Given the description of an element on the screen output the (x, y) to click on. 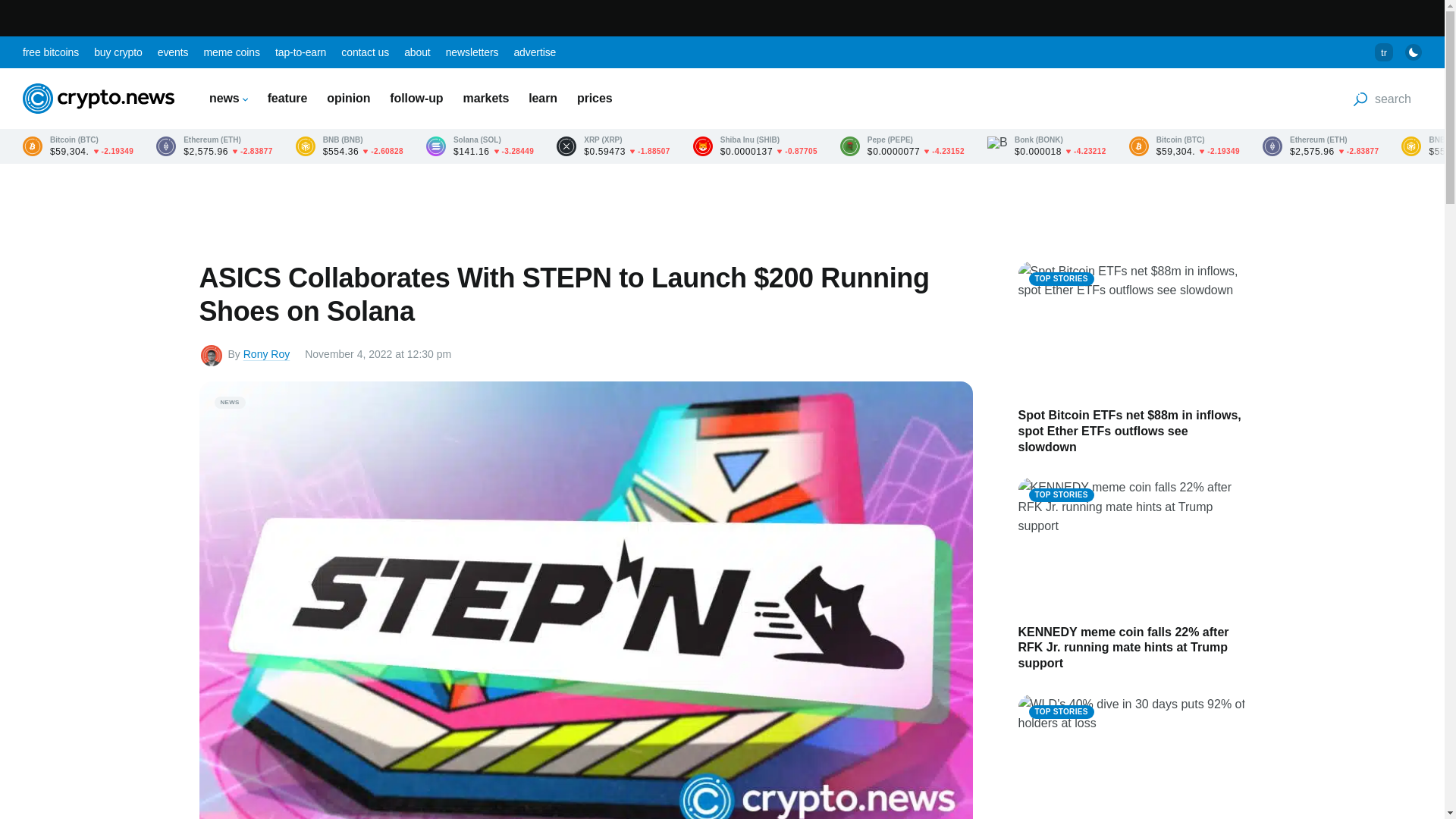
free bitcoins (50, 51)
feature (287, 97)
advertise (534, 51)
opinion (347, 97)
learn (542, 97)
Ethereum price (213, 145)
Bitcoin price (78, 145)
news (228, 97)
markets (486, 97)
crypto.news (98, 98)
